Given the description of an element on the screen output the (x, y) to click on. 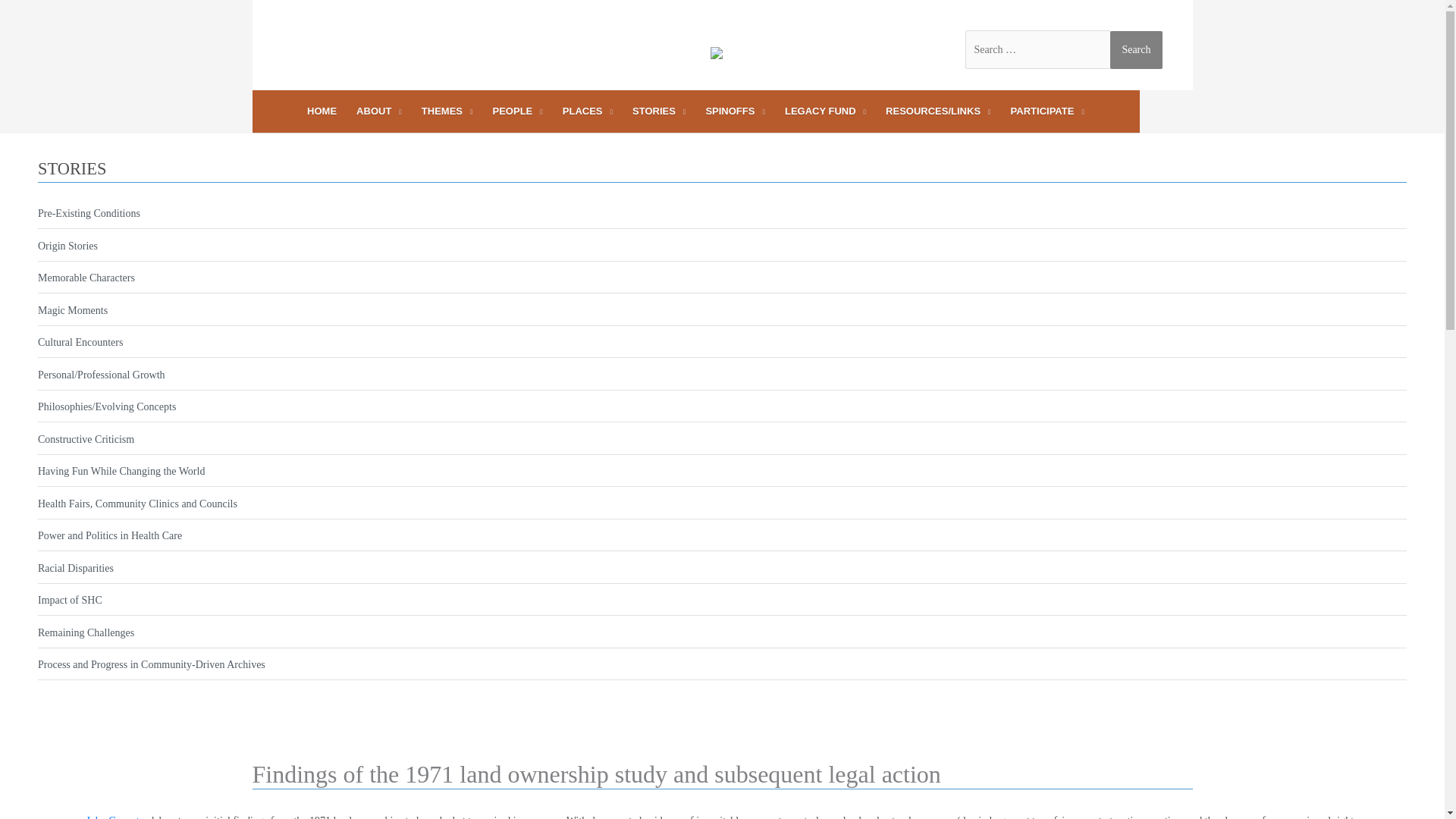
STORIES (659, 111)
Search (1135, 48)
PLACES (588, 111)
ABOUT (379, 111)
HOME (321, 111)
THEMES (447, 111)
PEOPLE (518, 111)
Search (1135, 48)
Search (1135, 48)
